Given the description of an element on the screen output the (x, y) to click on. 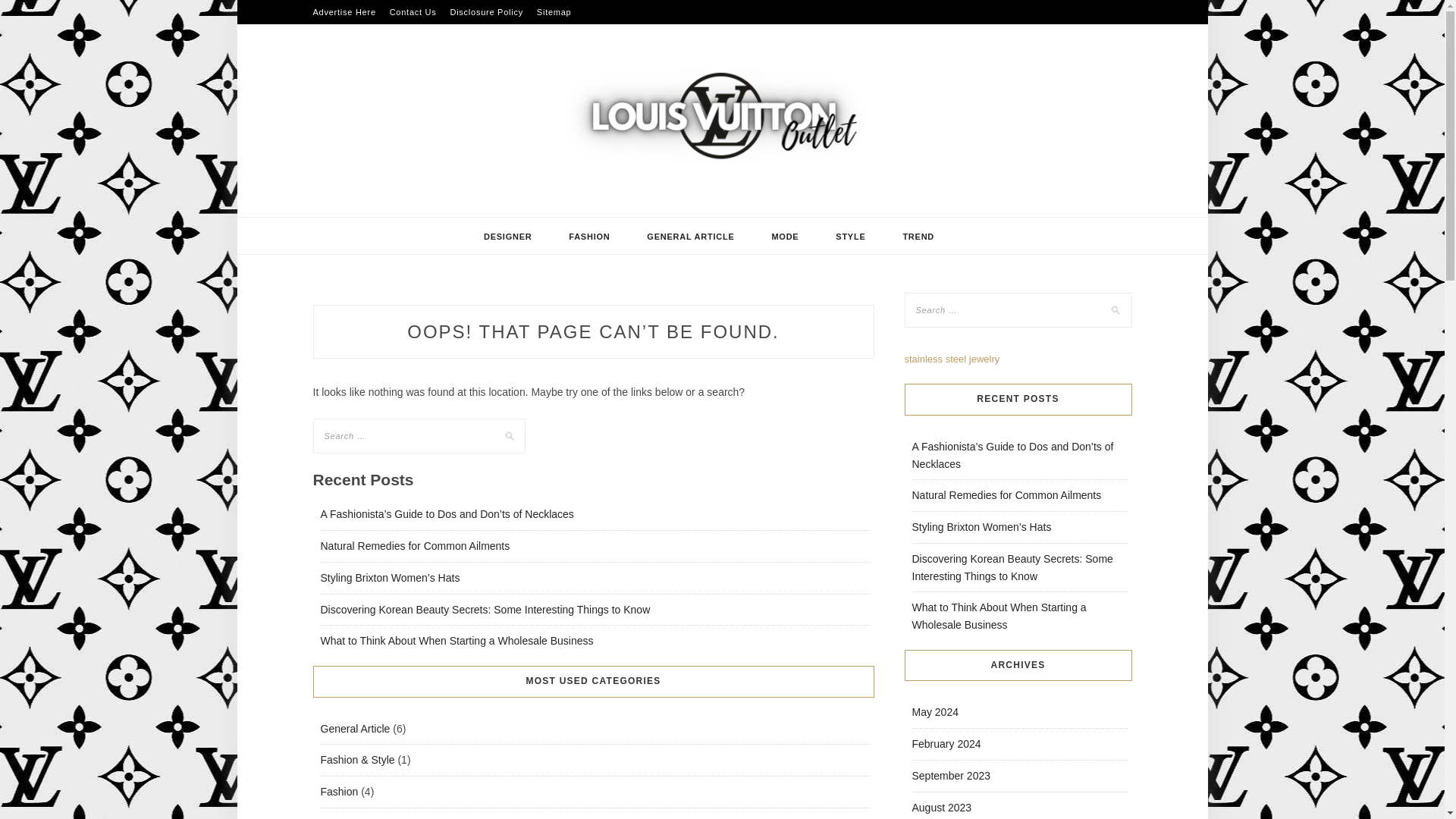
FASHION (588, 236)
What to Think About When Starting a Wholesale Business (456, 640)
Disclosure Policy (485, 12)
DESIGNER (507, 236)
Advertise Here (344, 12)
Contact Us (413, 12)
Sitemap (554, 12)
GENERAL ARTICLE (690, 236)
STYLE (850, 236)
MODE (784, 236)
TREND (917, 236)
LOUIS VUITTON (437, 210)
Natural Remedies for Common Ailments (414, 545)
